Given the description of an element on the screen output the (x, y) to click on. 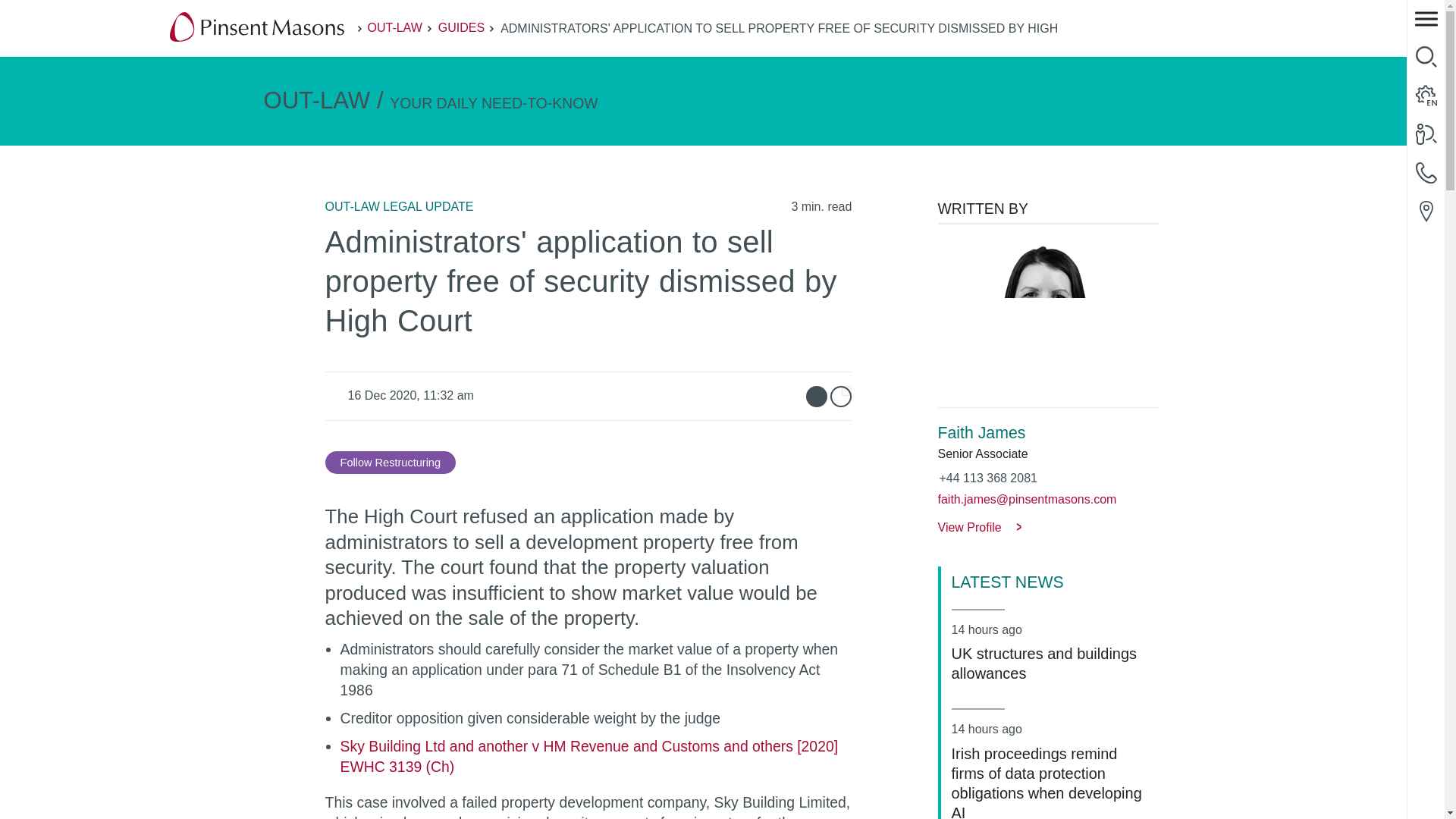
Pinsent Masons (257, 28)
OUT-LAW (394, 27)
Save in your preference settings (389, 462)
Email (816, 396)
on (846, 390)
GUIDES (461, 27)
